Given the description of an element on the screen output the (x, y) to click on. 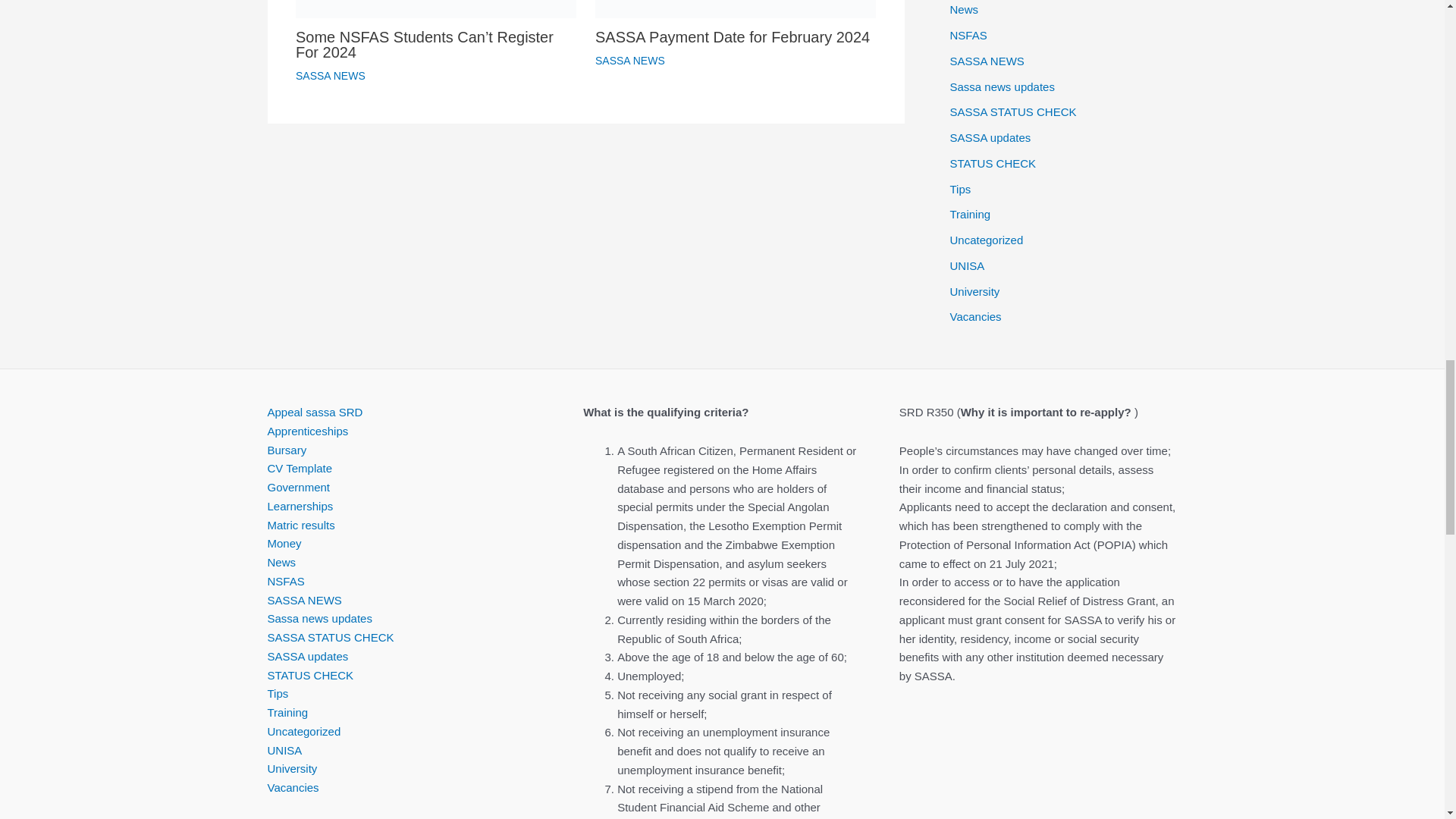
SASSA Payment Date for February 2024 (732, 36)
SASSA NEWS (630, 60)
SASSA NEWS (330, 75)
